Given the description of an element on the screen output the (x, y) to click on. 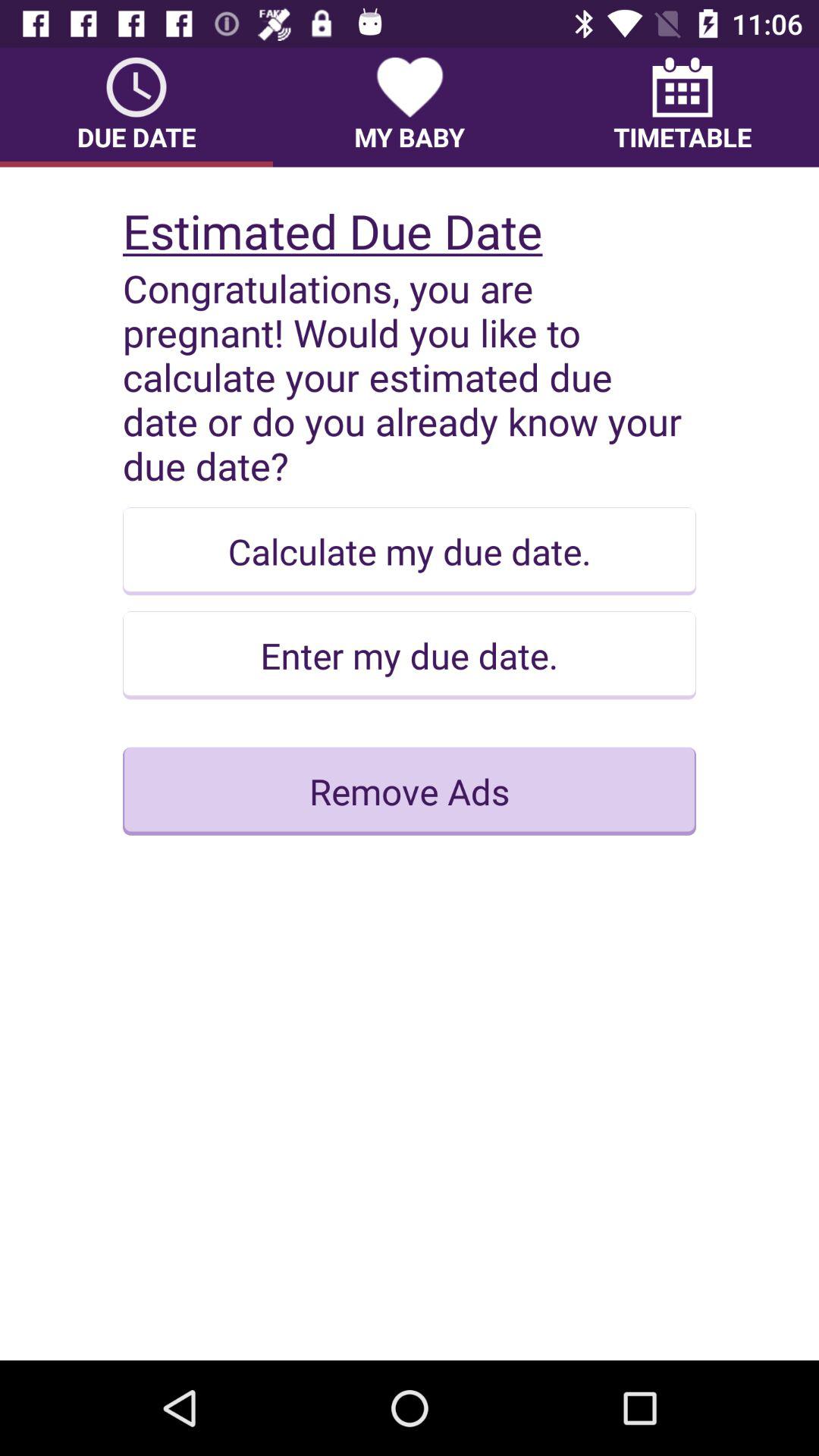
turn on the item next to the my baby item (682, 107)
